Given the description of an element on the screen output the (x, y) to click on. 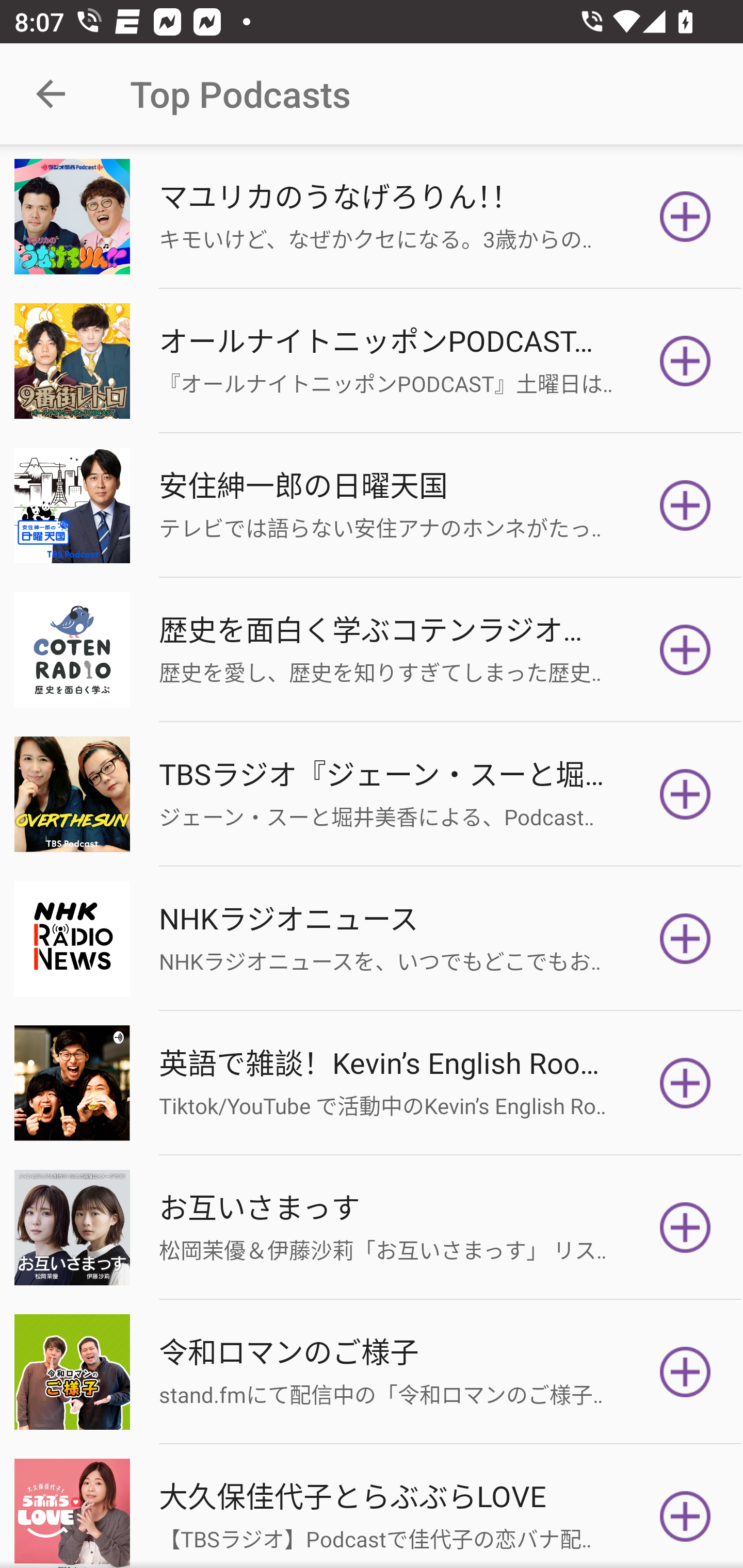
Navigate up (50, 93)
Subscribe (685, 216)
Subscribe (685, 360)
Subscribe (685, 505)
Subscribe (685, 649)
Subscribe (685, 793)
Subscribe (685, 939)
Subscribe (685, 1083)
Subscribe (685, 1227)
Subscribe (685, 1371)
Subscribe (685, 1513)
